Given the description of an element on the screen output the (x, y) to click on. 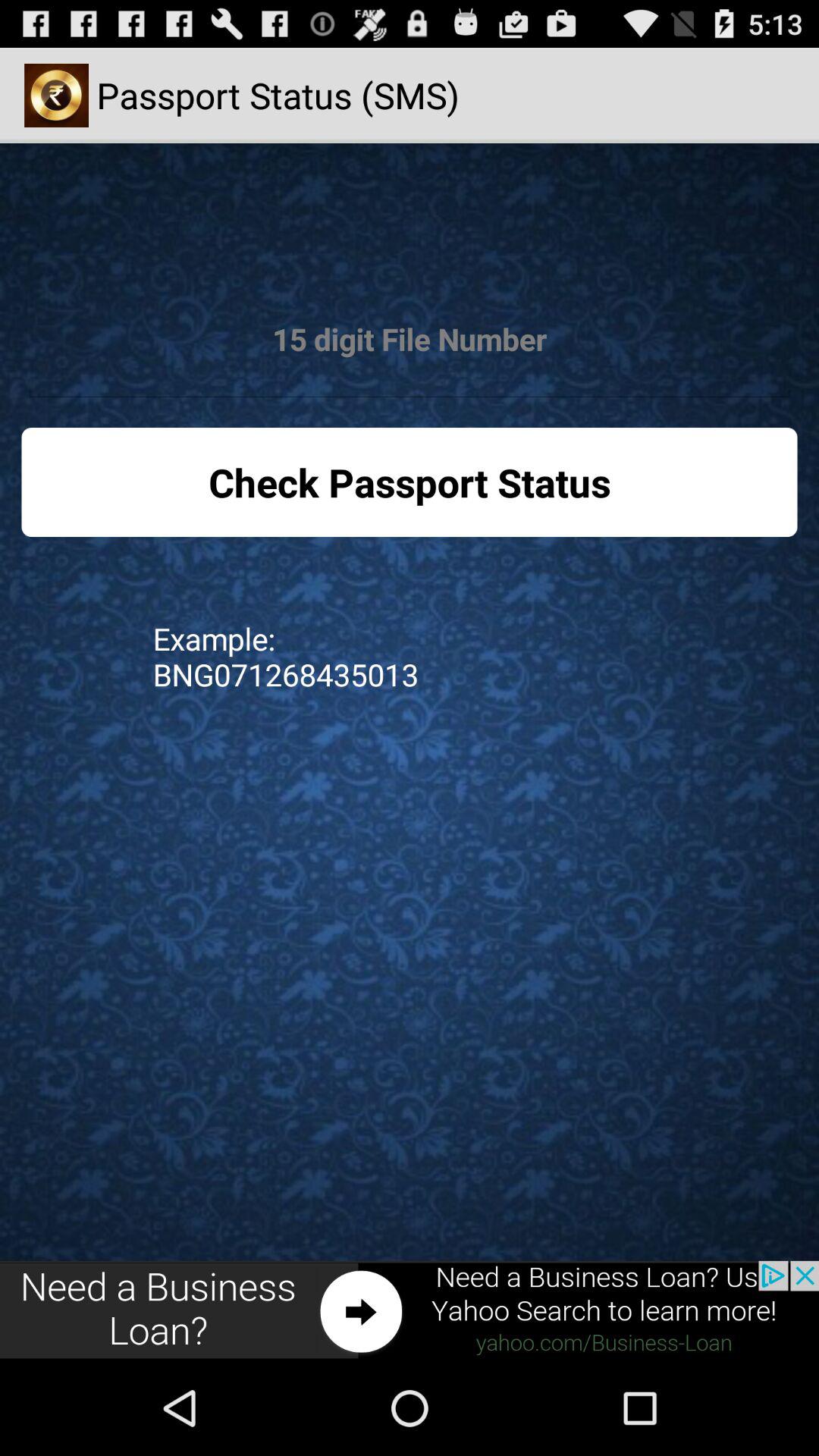
passport number bar (409, 339)
